Given the description of an element on the screen output the (x, y) to click on. 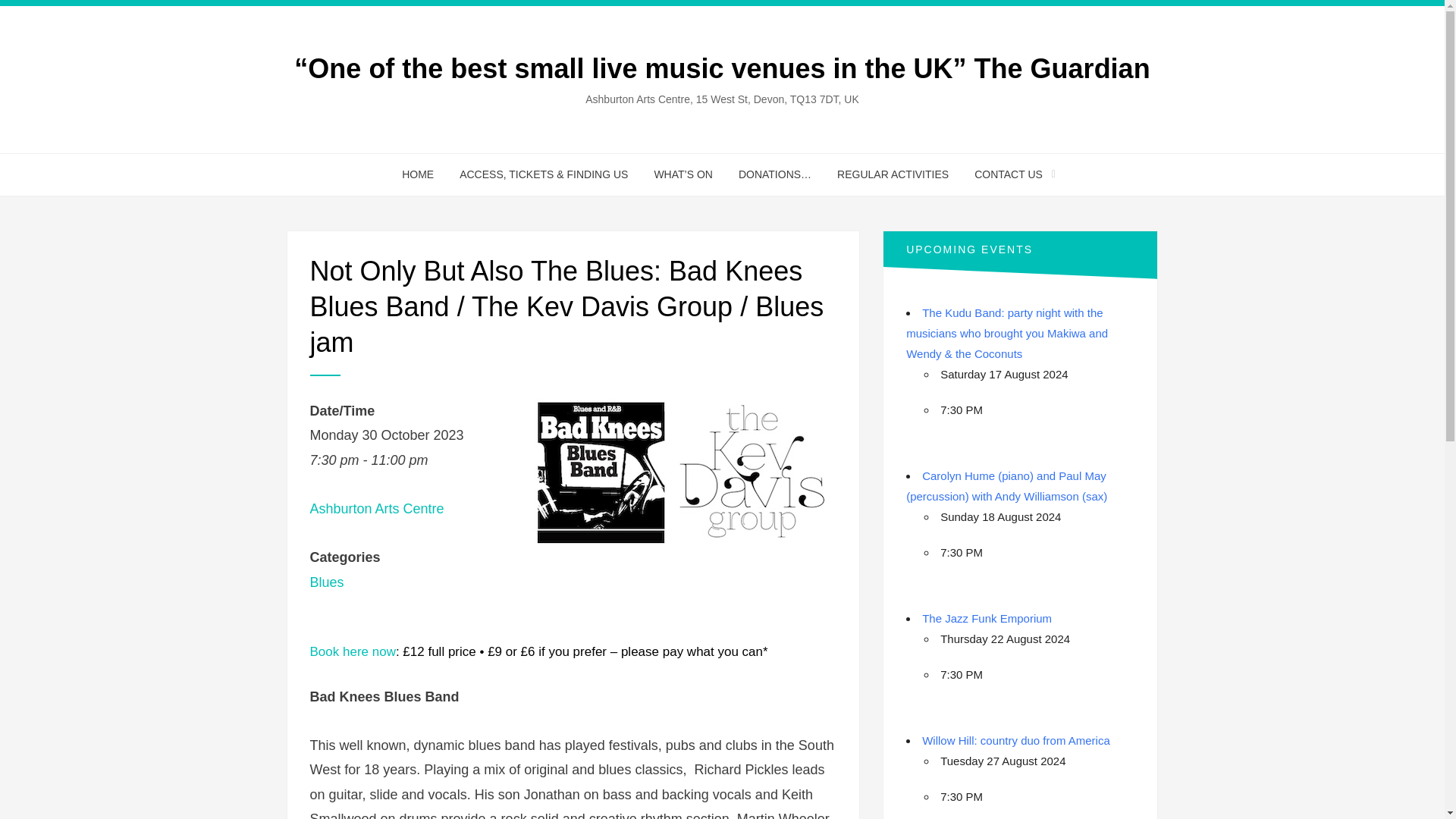
Ashburton Arts Centre (376, 508)
Blues (325, 581)
Willow Hill: country duo from America (1015, 739)
REGULAR ACTIVITIES (892, 174)
The Jazz Funk Emporium (986, 617)
Book here now (351, 651)
HOME (417, 174)
CONTACT US (1007, 174)
